Given the description of an element on the screen output the (x, y) to click on. 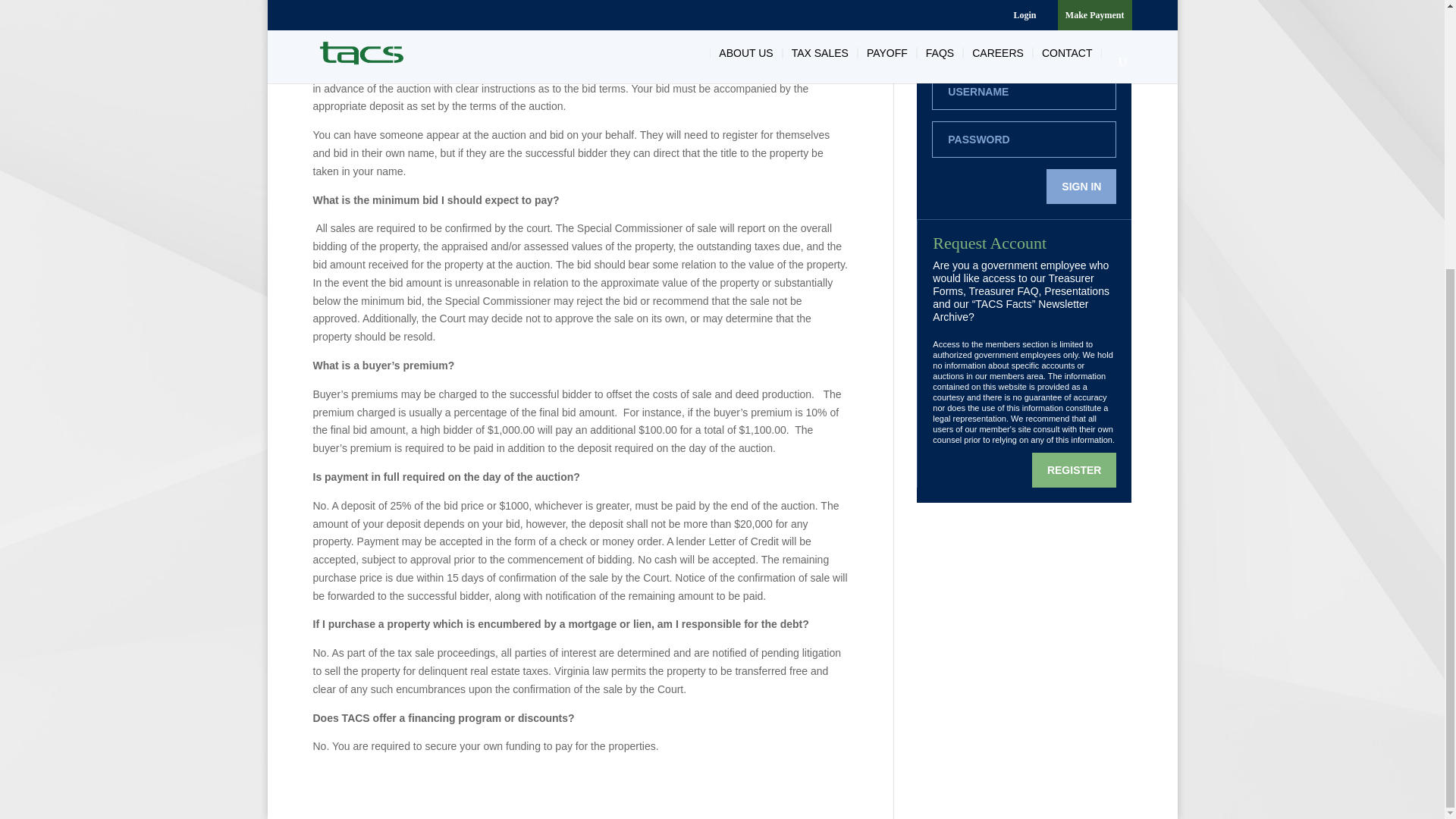
SIGN IN (1081, 185)
REGISTER (1074, 469)
REGISTER (1074, 469)
SIGN IN (1081, 185)
